Given the description of an element on the screen output the (x, y) to click on. 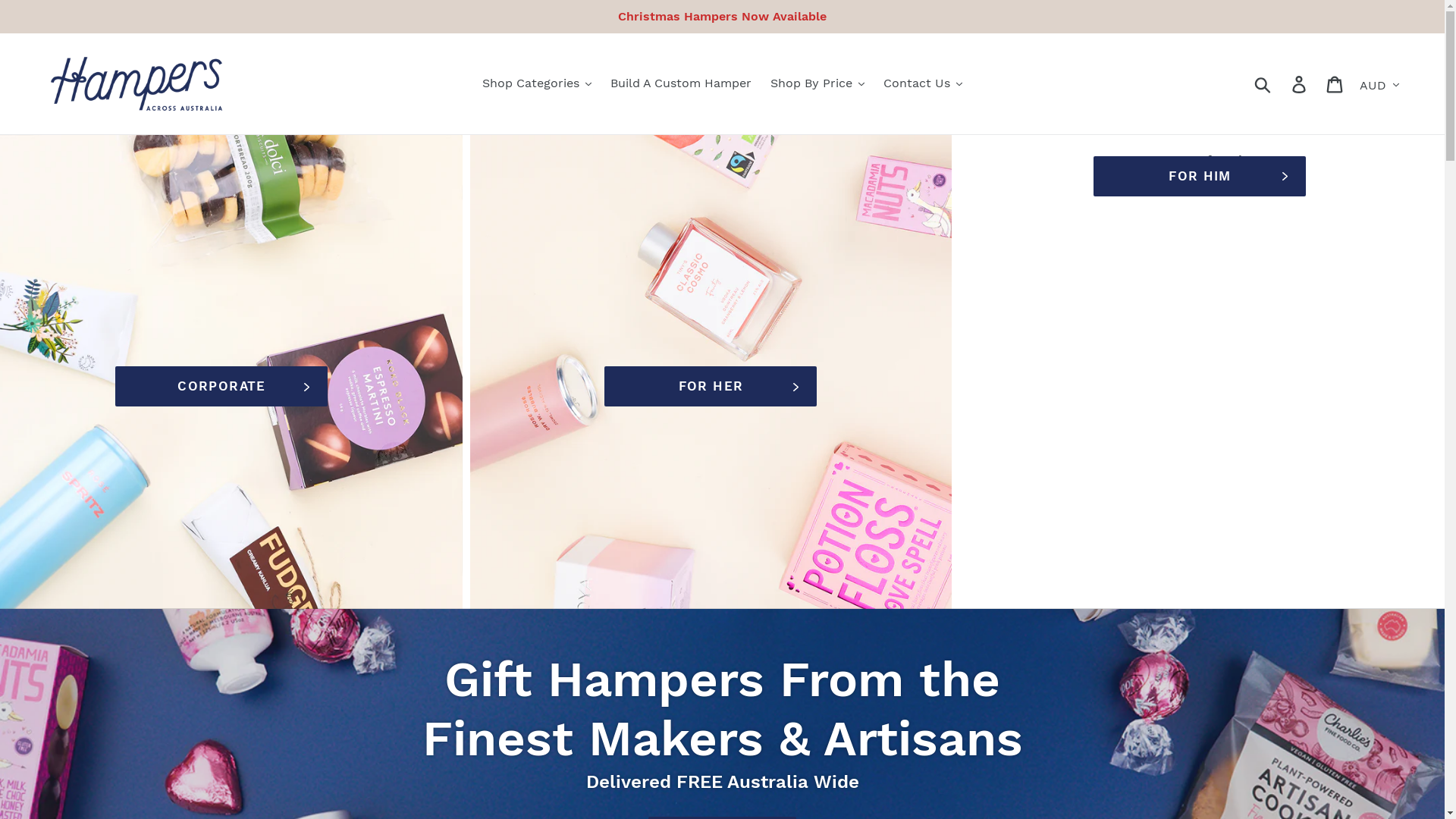
FOR HER Element type: text (710, 387)
Build A Custom Hamper Element type: text (680, 83)
Christmas Hampers Now Available Element type: text (722, 16)
FOR HIM Element type: text (1199, 176)
CORPORATE Element type: text (221, 387)
Submit Element type: text (1263, 83)
Log in Element type: text (1299, 83)
Cart Element type: text (1335, 83)
